Given the description of an element on the screen output the (x, y) to click on. 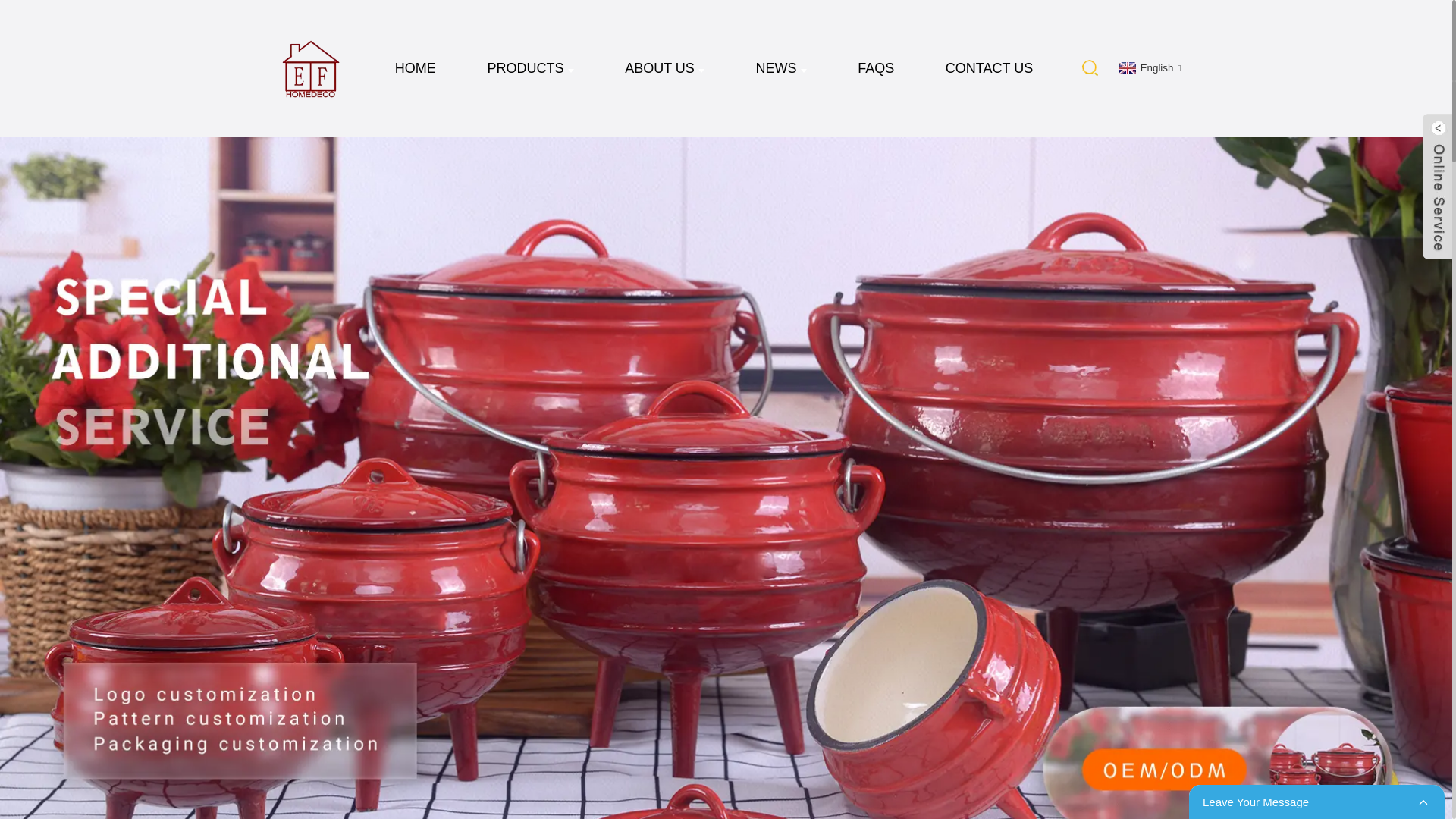
HOME (415, 68)
PRODUCTS (529, 68)
CONTACT US (989, 68)
English (1147, 67)
FAQS (875, 68)
ABOUT US (664, 68)
NEWS (780, 68)
